Given the description of an element on the screen output the (x, y) to click on. 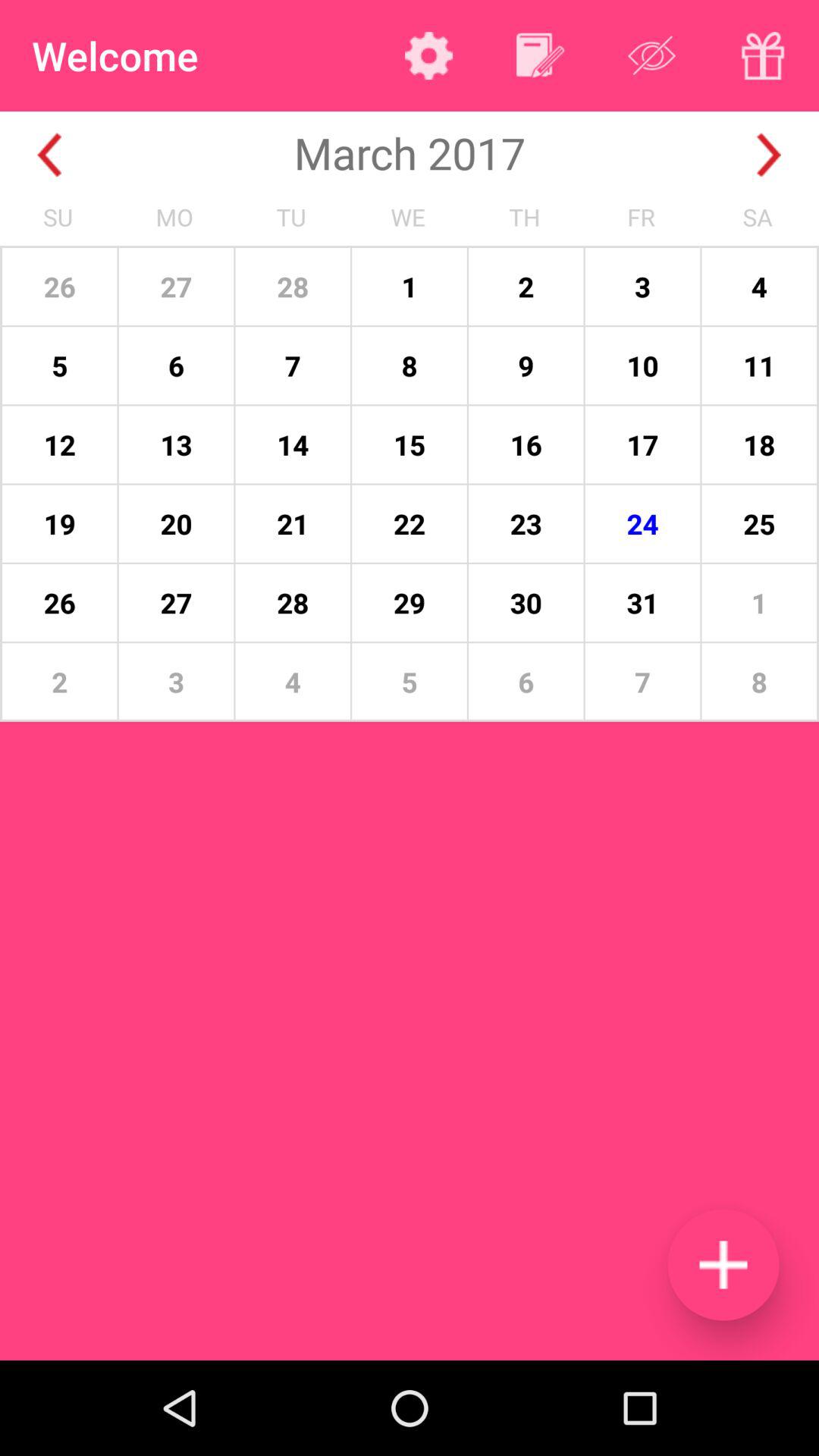
shows a gift option (763, 55)
